Given the description of an element on the screen output the (x, y) to click on. 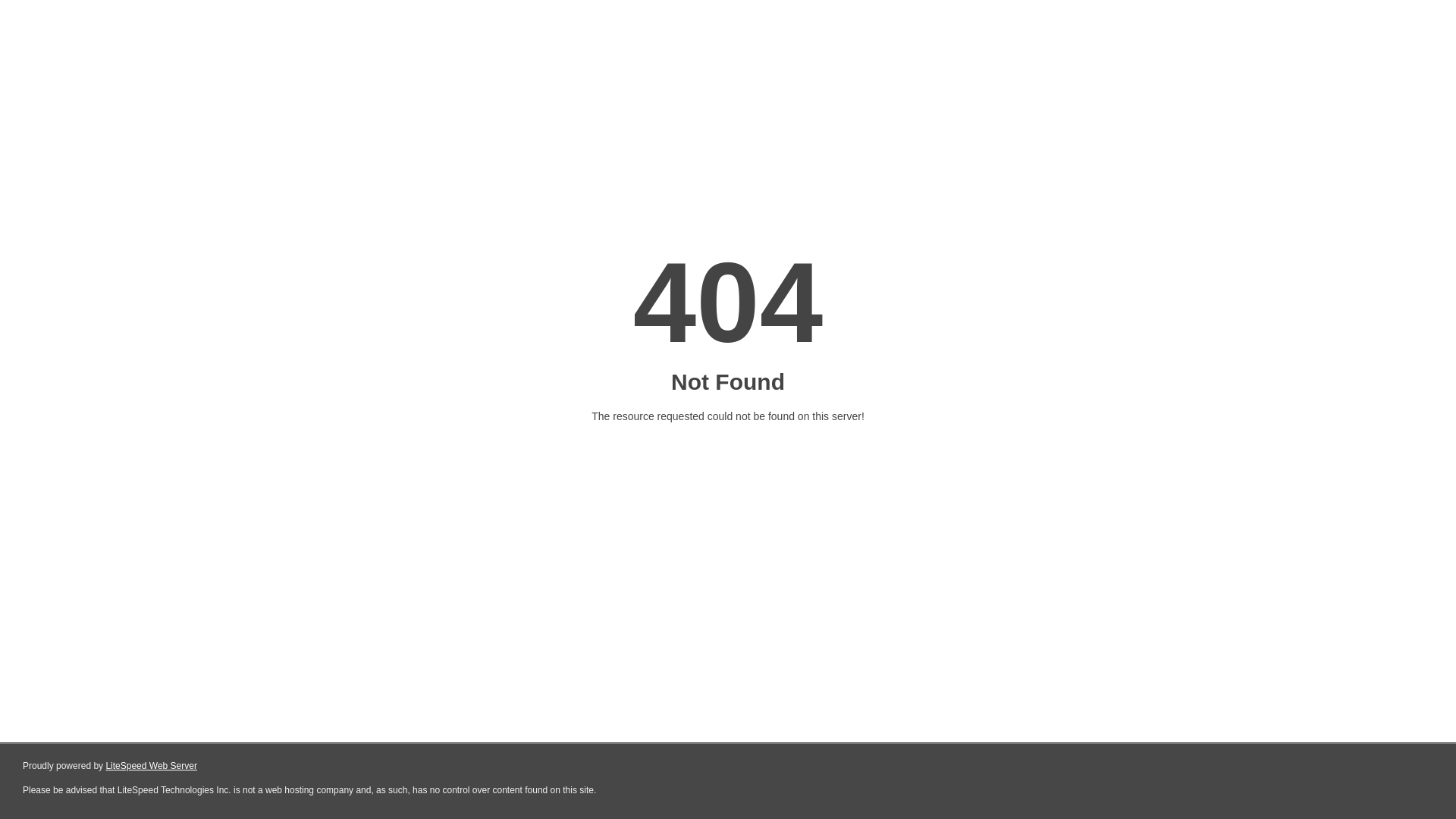
LiteSpeed Web Server Element type: text (151, 765)
